Given the description of an element on the screen output the (x, y) to click on. 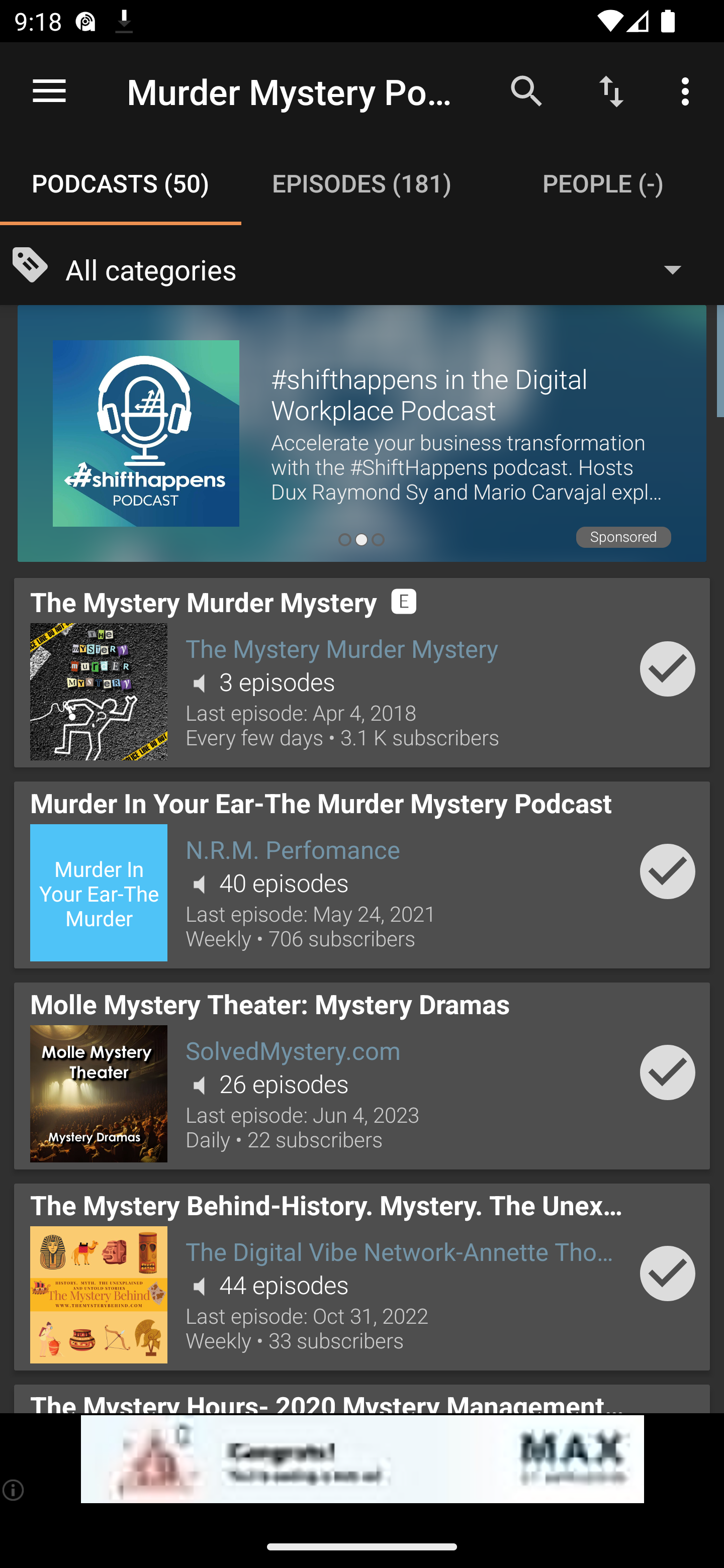
Open navigation sidebar (49, 91)
Search (526, 90)
Sort (611, 90)
More options (688, 90)
Episodes (-) EPISODES (-) (361, 183)
People (-) PEOPLE (-) (603, 183)
All categories (383, 268)
Add (667, 669)
Add (667, 871)
Add (667, 1072)
Add (667, 1272)
app-monetization (362, 1459)
(i) (14, 1489)
